Given the description of an element on the screen output the (x, y) to click on. 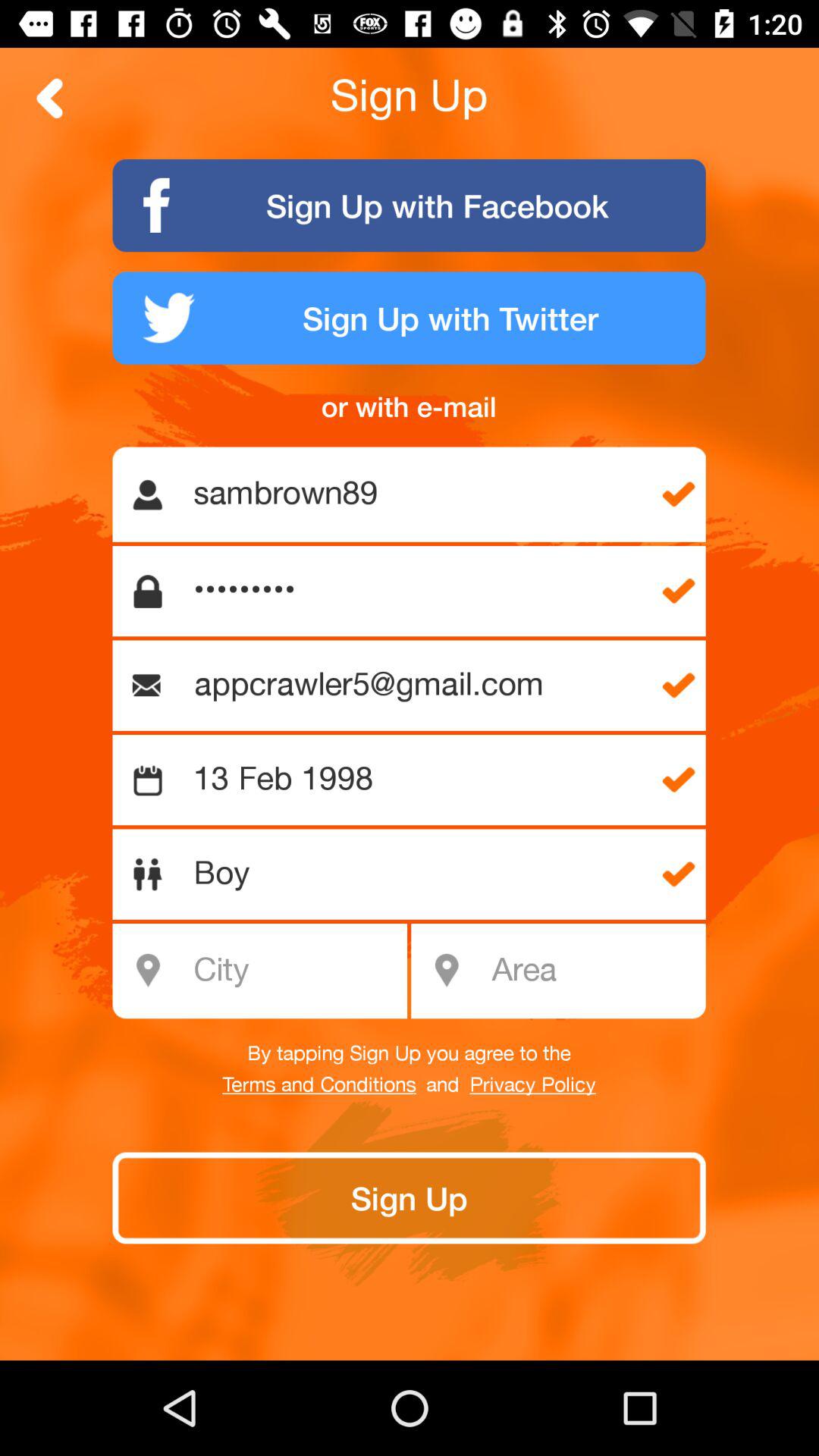
choose item above the by tapping sign icon (593, 970)
